Given the description of an element on the screen output the (x, y) to click on. 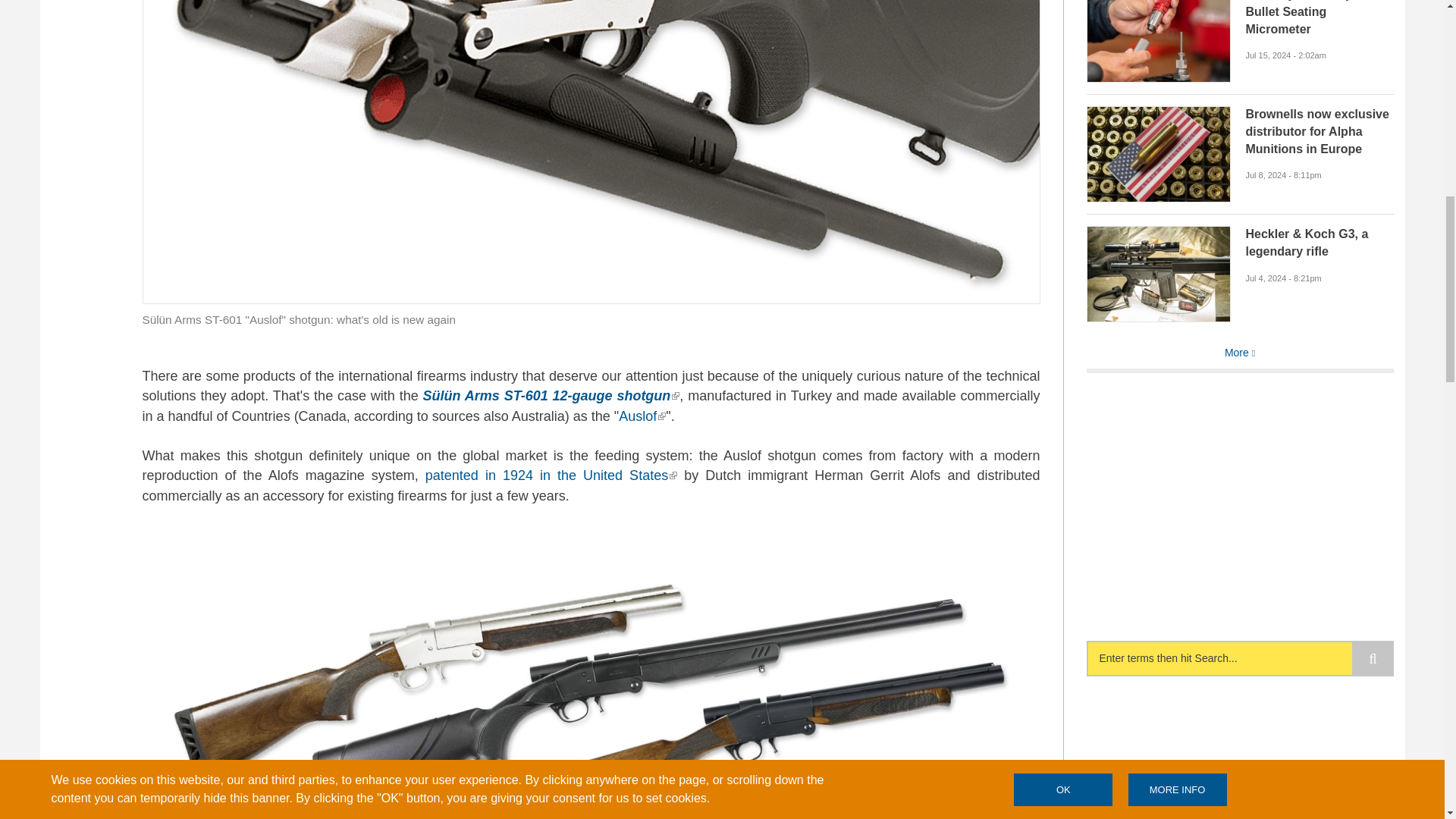
Enter terms then hit Search... (1239, 658)
